Given the description of an element on the screen output the (x, y) to click on. 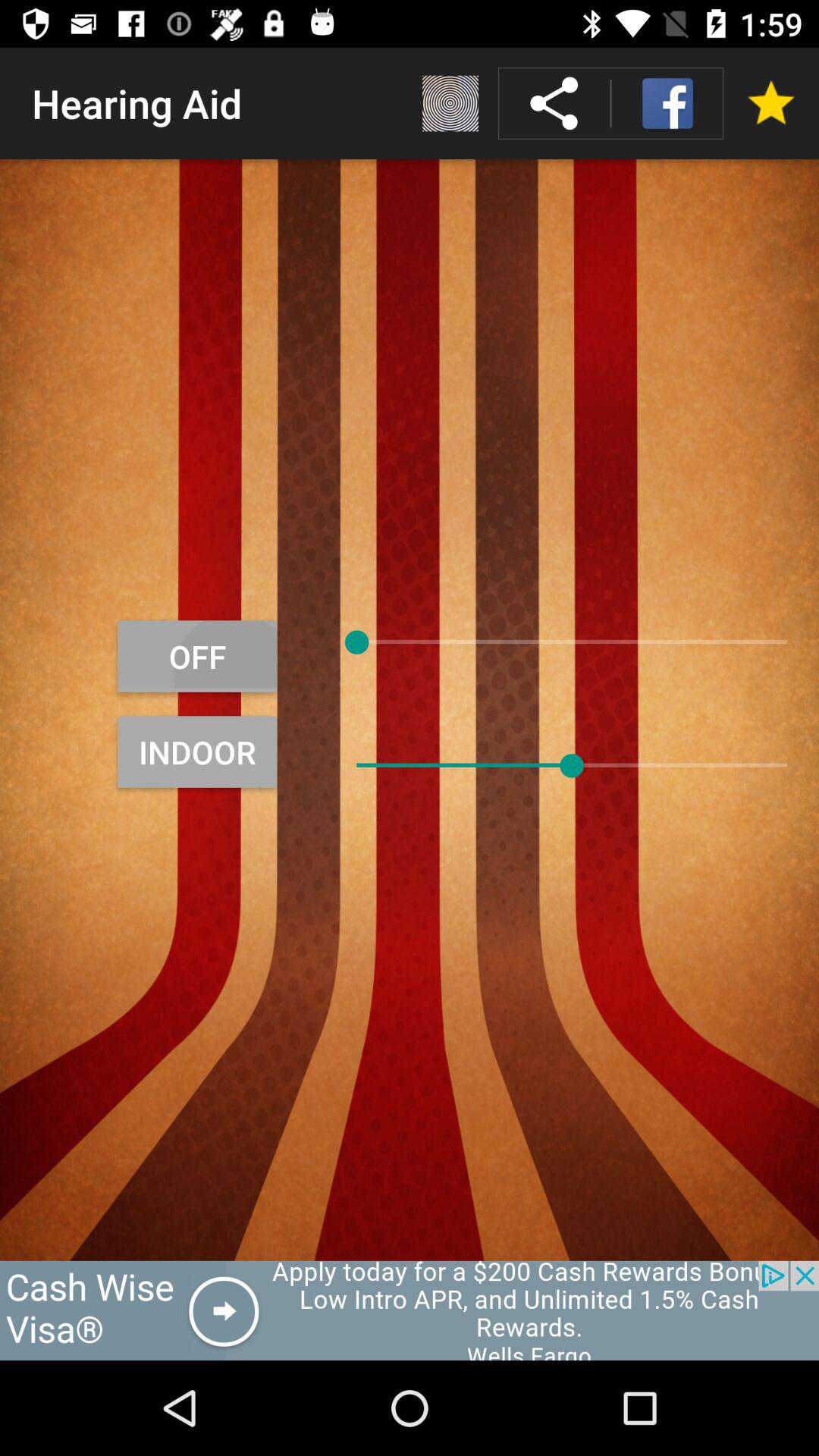
advertesement link (409, 1310)
